Given the description of an element on the screen output the (x, y) to click on. 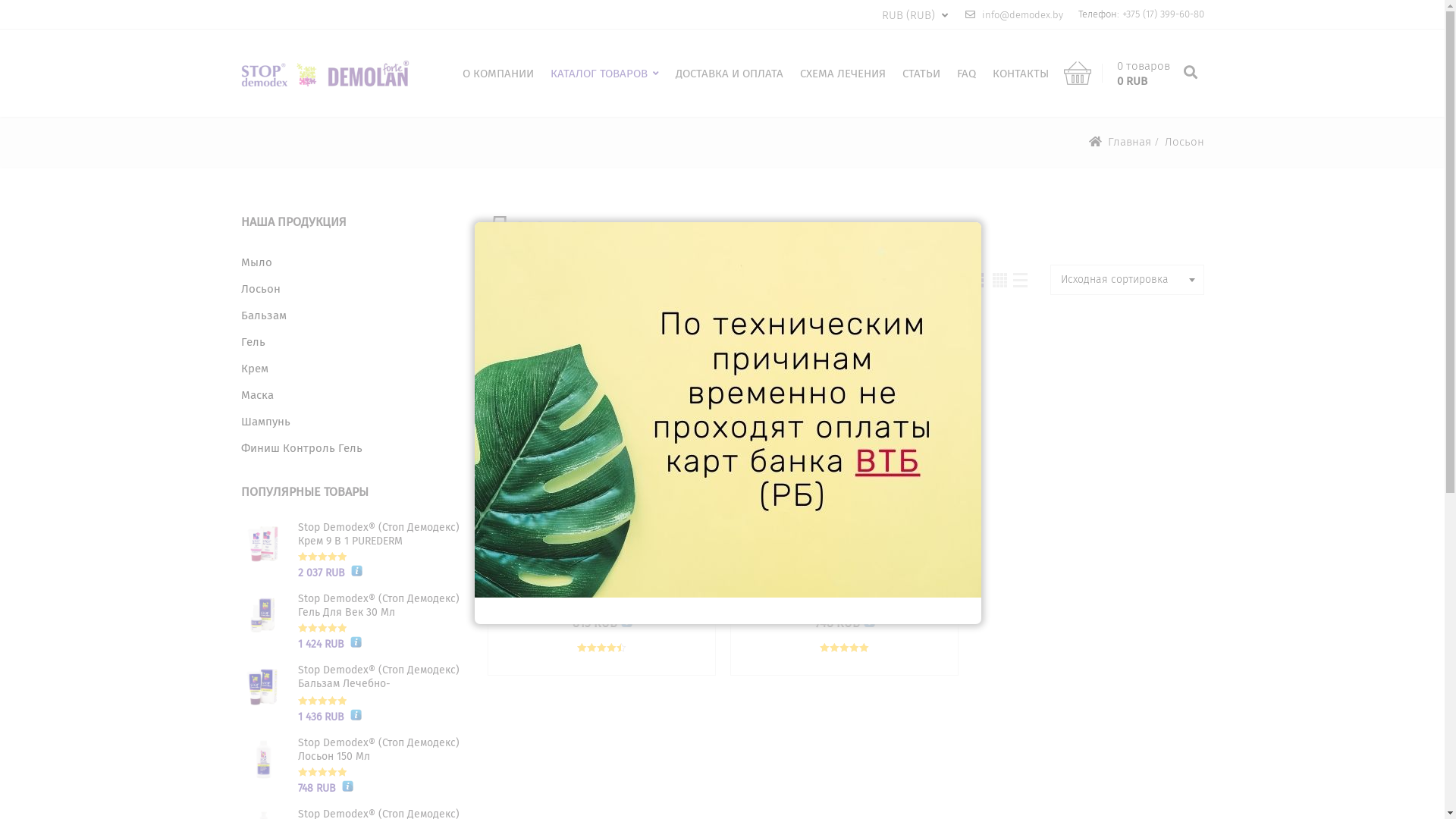
FAQ Element type: text (966, 73)
View Cart (0) Element type: hover (1076, 75)
 info@demodex.by Element type: text (1013, 14)
+375 (17) 399-60-80 Element type: text (1163, 13)
